Given the description of an element on the screen output the (x, y) to click on. 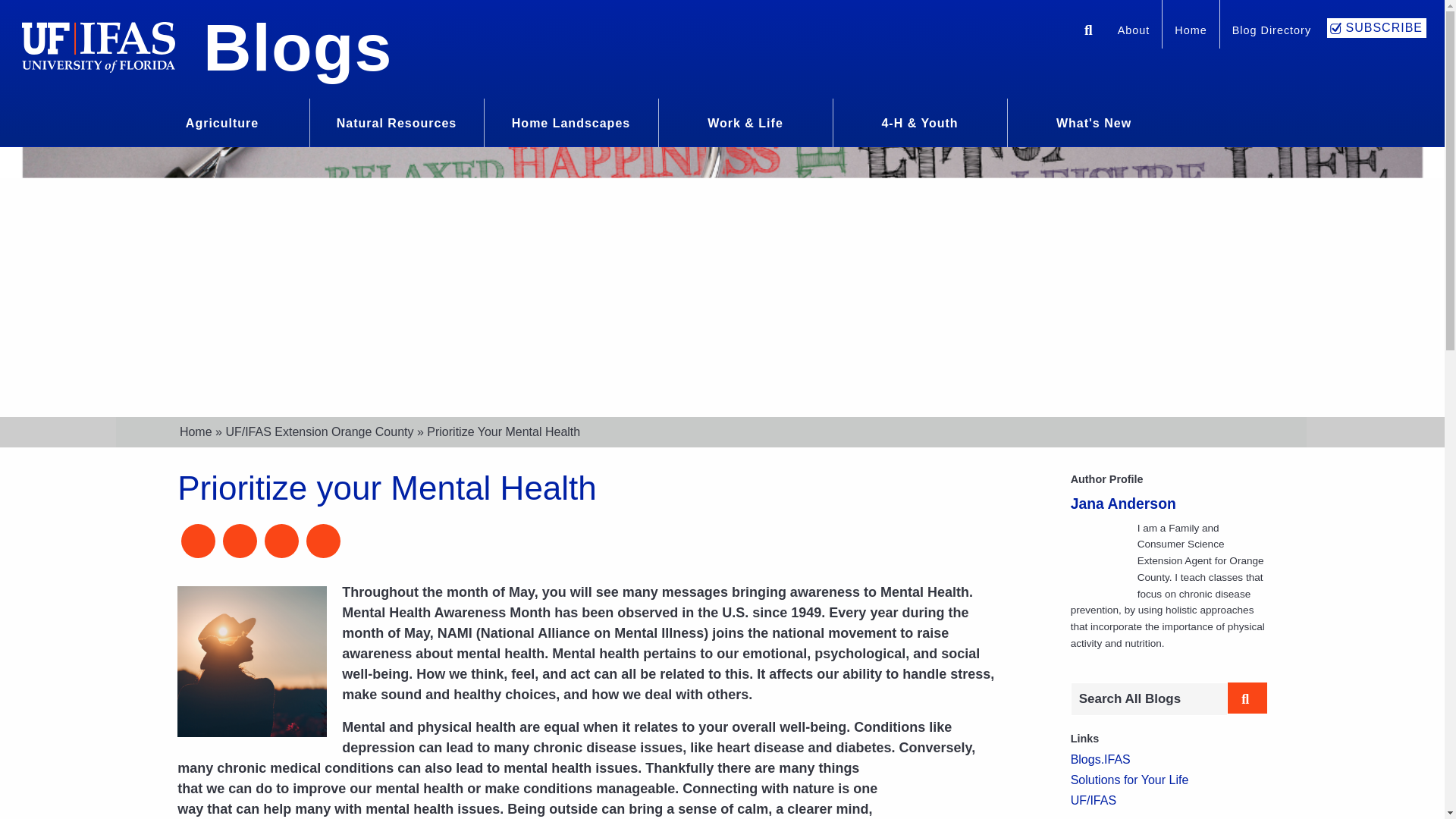
Natural Resources (396, 121)
Agriculture (221, 121)
SUBSCRIBE (1376, 27)
Search All Blogs (1148, 698)
About (1133, 32)
Home Landscapes (571, 121)
Blogs (297, 47)
Home (1189, 32)
Blog Directory (1271, 32)
